Given the description of an element on the screen output the (x, y) to click on. 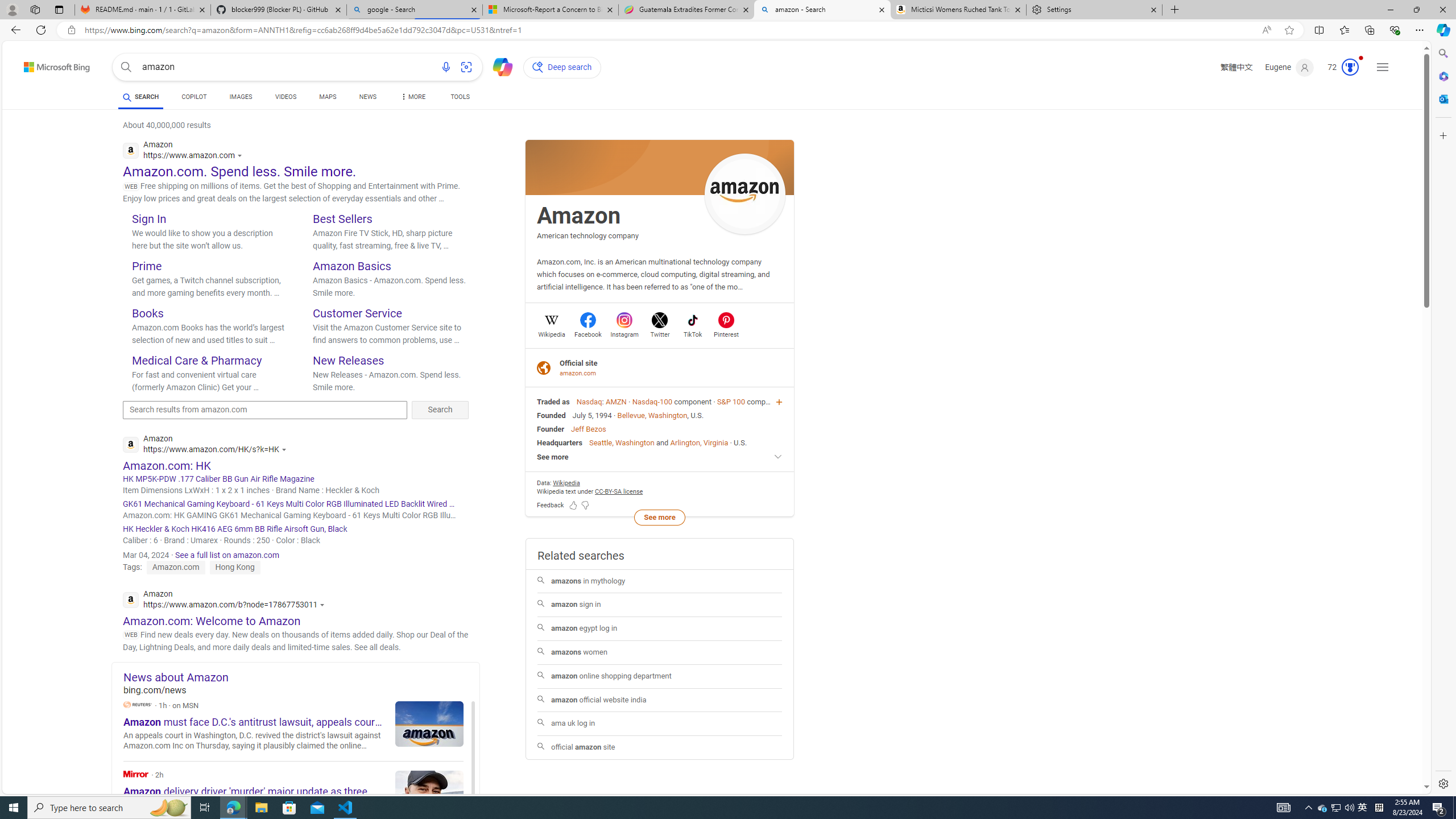
New Releases (348, 359)
Eugene (1289, 67)
Founded (551, 415)
Settings and quick links (1383, 67)
Amazon.com: Welcome to Amazon (211, 620)
NEWS (367, 96)
